Given the description of an element on the screen output the (x, y) to click on. 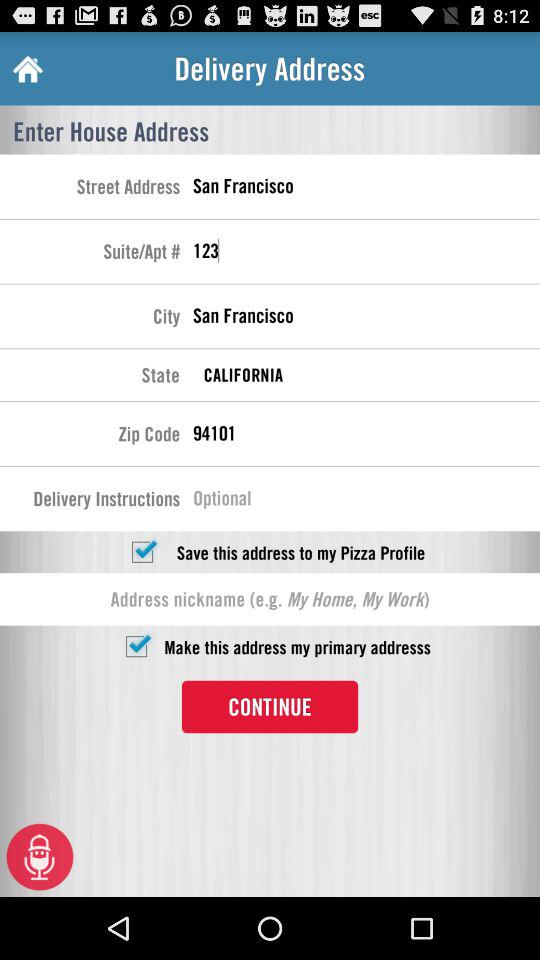
box shows address (270, 599)
